Given the description of an element on the screen output the (x, y) to click on. 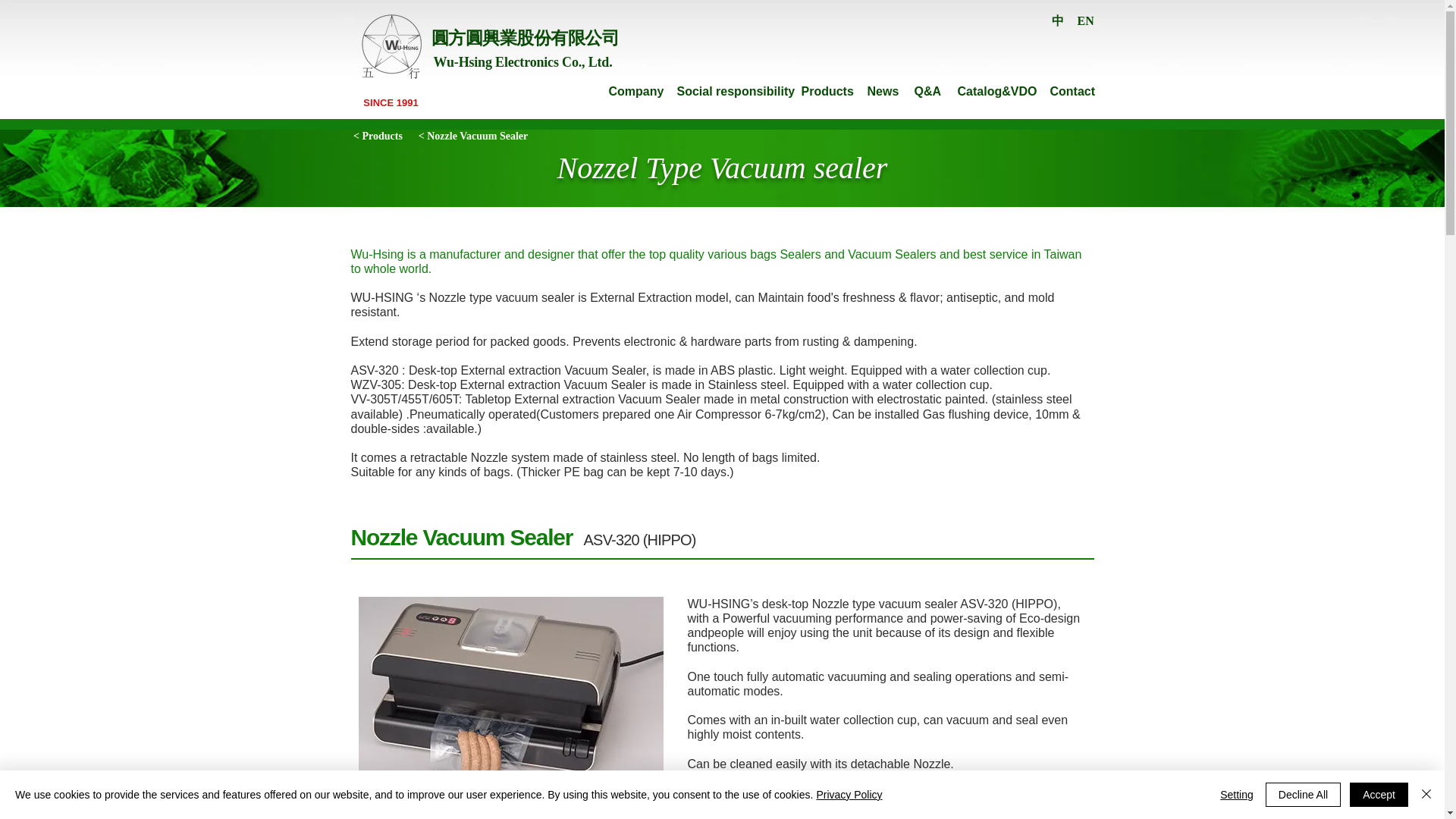
Contact (1071, 91)
News (883, 91)
Social responsibility (735, 91)
Products (826, 91)
EN (1085, 21)
Company (635, 91)
Privacy Policy (848, 794)
Accept (1378, 794)
Decline All (1302, 794)
Wu-Hsing Electronics Co., Ltd. (522, 61)
